Given the description of an element on the screen output the (x, y) to click on. 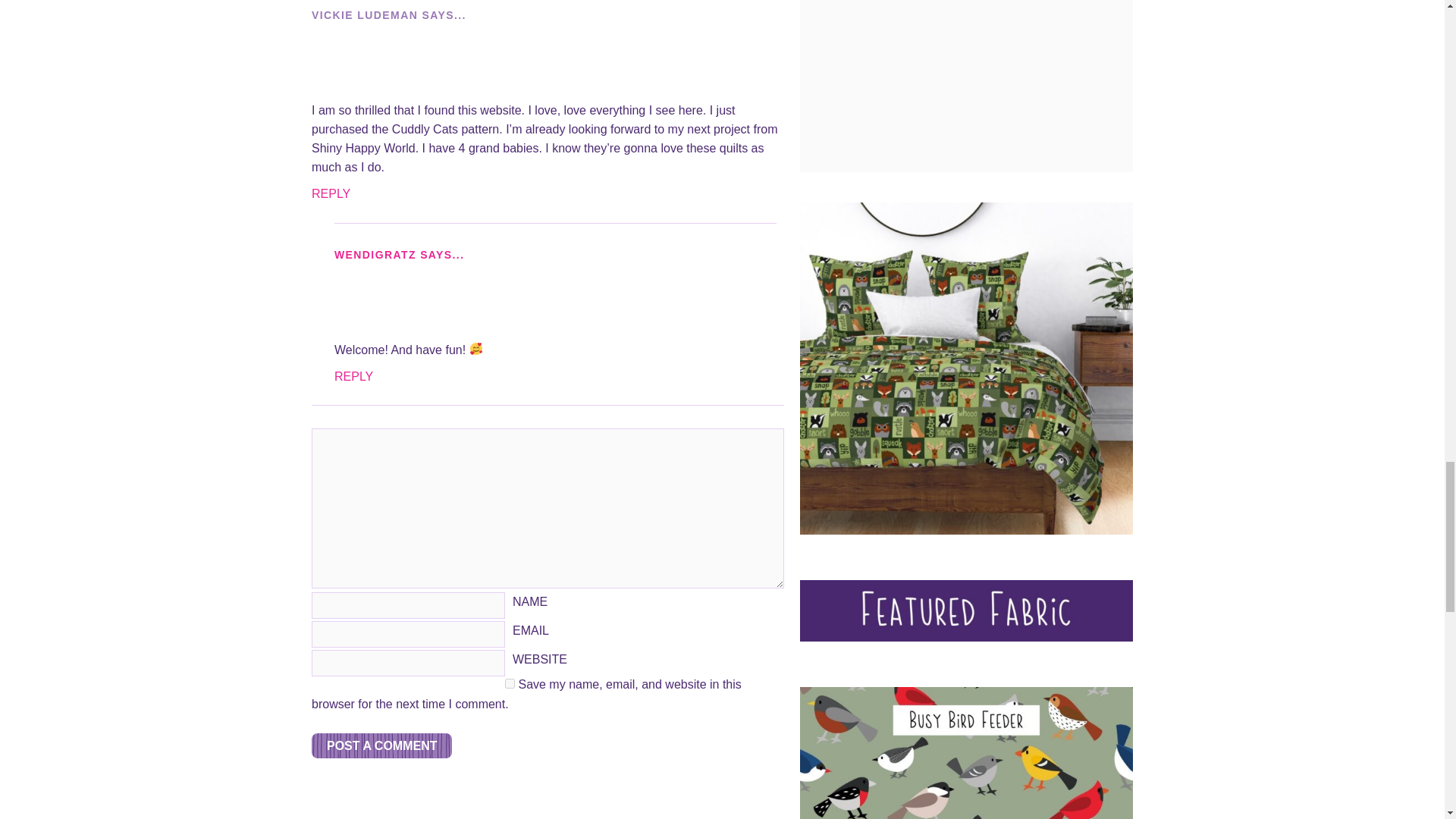
POST A COMMENT (381, 745)
yes (510, 683)
